Given the description of an element on the screen output the (x, y) to click on. 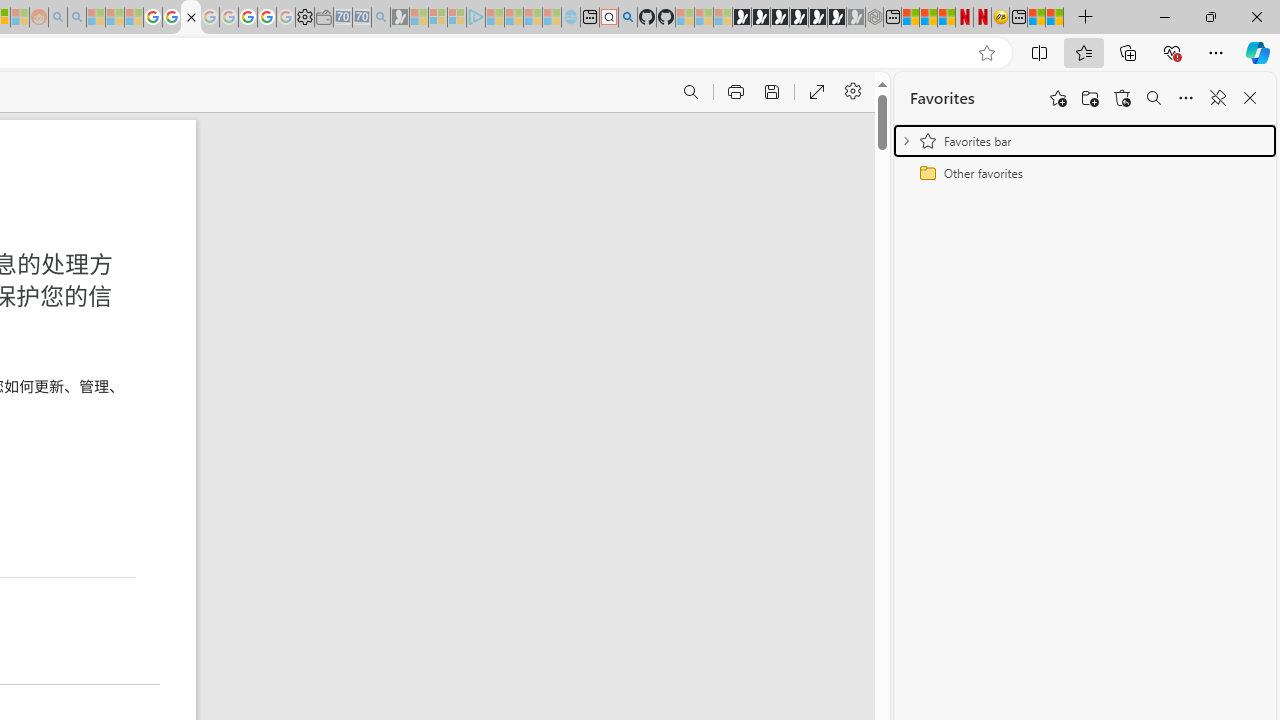
Add this page to favorites (1058, 98)
Search favorites (1153, 98)
Save (Ctrl+S) (770, 92)
github - Search (628, 17)
